Given the description of an element on the screen output the (x, y) to click on. 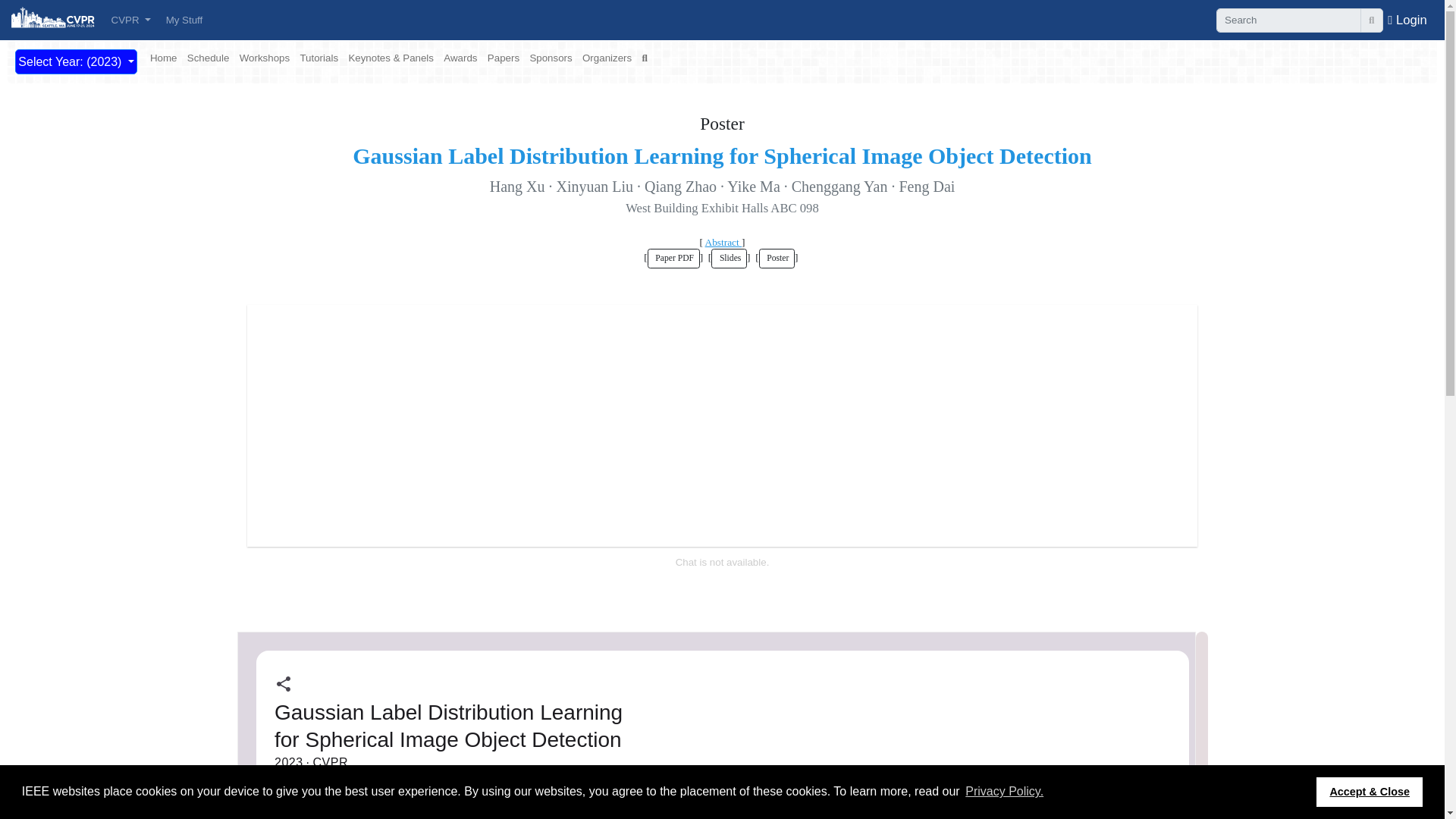
Awards (460, 57)
Schedule (207, 57)
Organizers (606, 57)
Abstract (722, 242)
Slides (728, 258)
My Stuff (184, 20)
Poster (776, 258)
Tutorials (318, 57)
Home (163, 57)
CVPR (129, 20)
Workshops (263, 57)
Login (1406, 19)
Paper PDF (673, 258)
Papers (503, 57)
Slides (728, 258)
